Given the description of an element on the screen output the (x, y) to click on. 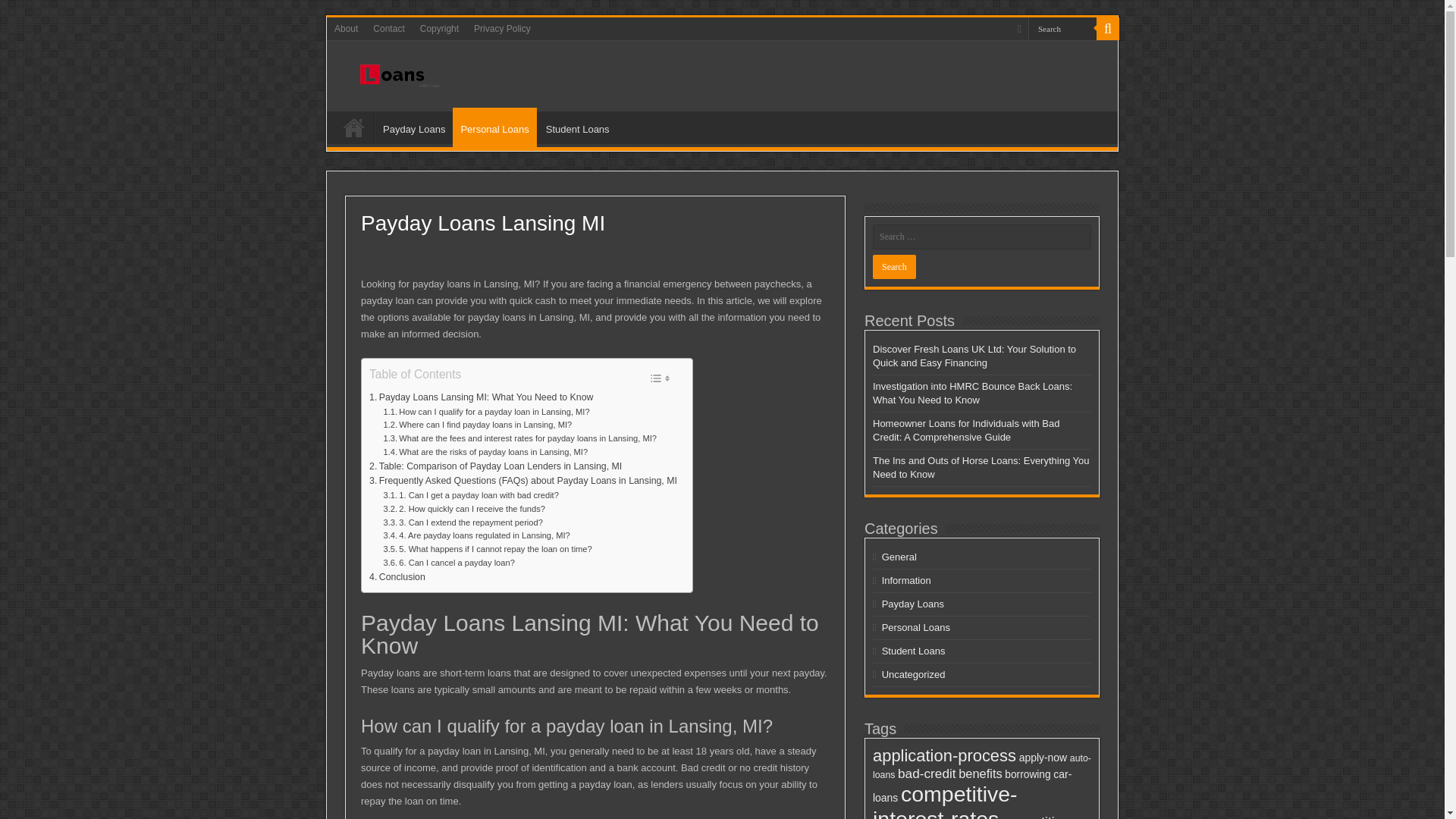
Search (893, 266)
Copyright (438, 28)
LOANS (354, 127)
3. Can I extend the repayment period? (463, 522)
Search (1061, 28)
6. Can I cancel a payday loan? (449, 563)
Search (893, 266)
Information (906, 580)
What are the risks of payday loans in Lansing, MI? (486, 452)
How can I qualify for a payday loan in Lansing, MI? (486, 412)
4. Are payday loans regulated in Lansing, MI? (477, 535)
Payday Loans Lansing MI: What You Need to Know (481, 397)
